Given the description of an element on the screen output the (x, y) to click on. 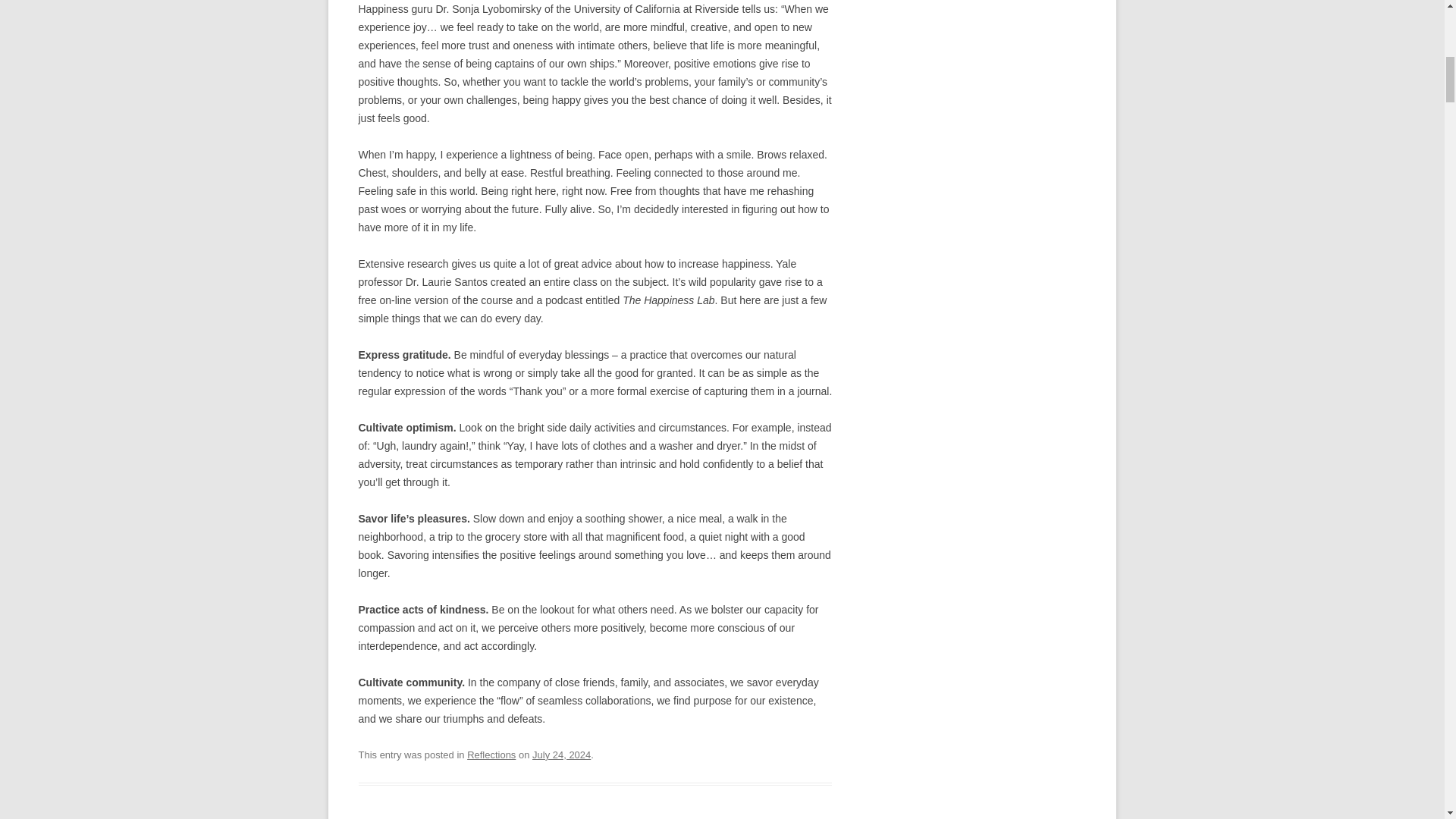
6:00 am (561, 754)
Reflections (491, 754)
July 24, 2024 (561, 754)
